Given the description of an element on the screen output the (x, y) to click on. 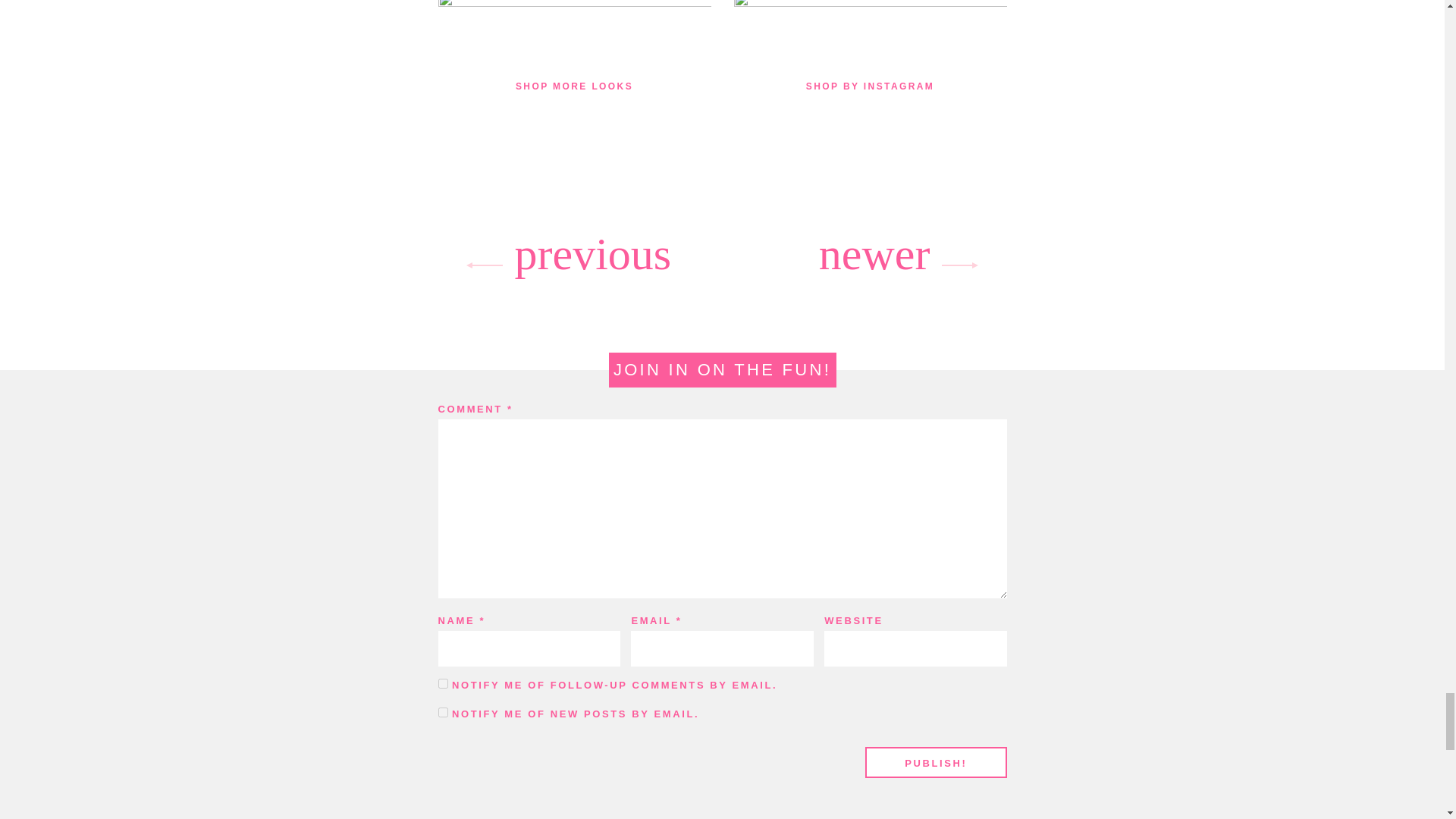
subscribe (443, 683)
subscribe (443, 712)
Publish! (935, 762)
